Given the description of an element on the screen output the (x, y) to click on. 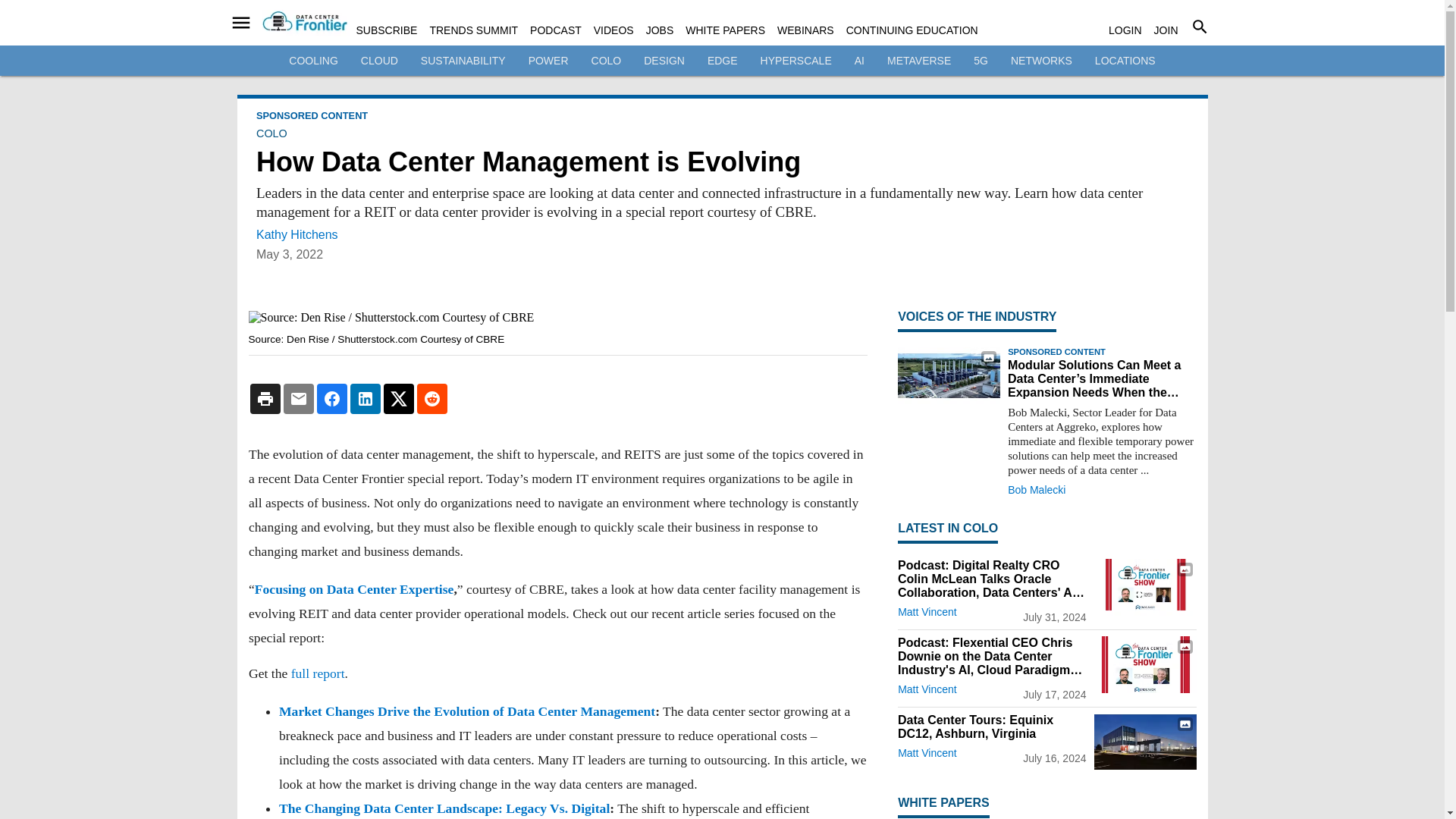
LOGIN (1124, 30)
EDGE (722, 60)
JOBS (660, 30)
POWER (548, 60)
NETWORKS (1040, 60)
SUBSCRIBE (386, 30)
5G (981, 60)
PODCAST (554, 30)
SUSTAINABILITY (462, 60)
METAVERSE (918, 60)
